Given the description of an element on the screen output the (x, y) to click on. 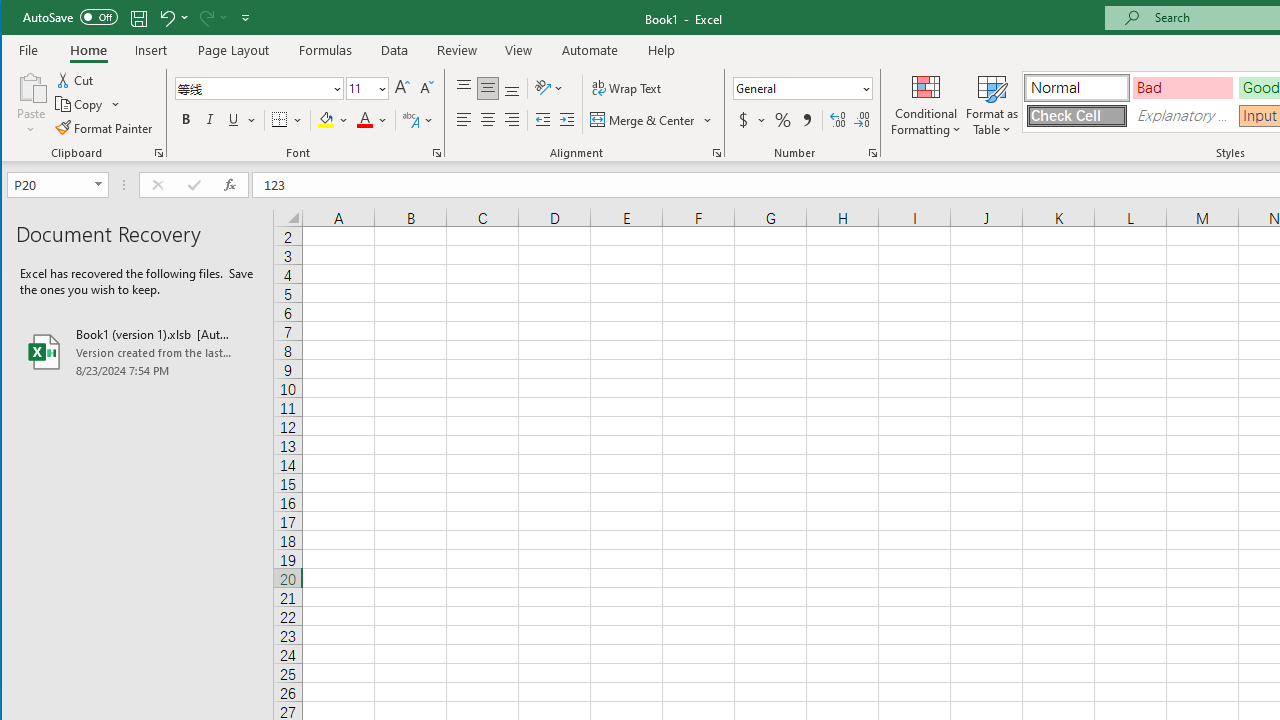
Accounting Number Format (744, 119)
Check Cell (1077, 116)
Decrease Font Size (425, 88)
Cut (75, 80)
Bottom Align (511, 88)
Office Clipboard... (158, 152)
